Given the description of an element on the screen output the (x, y) to click on. 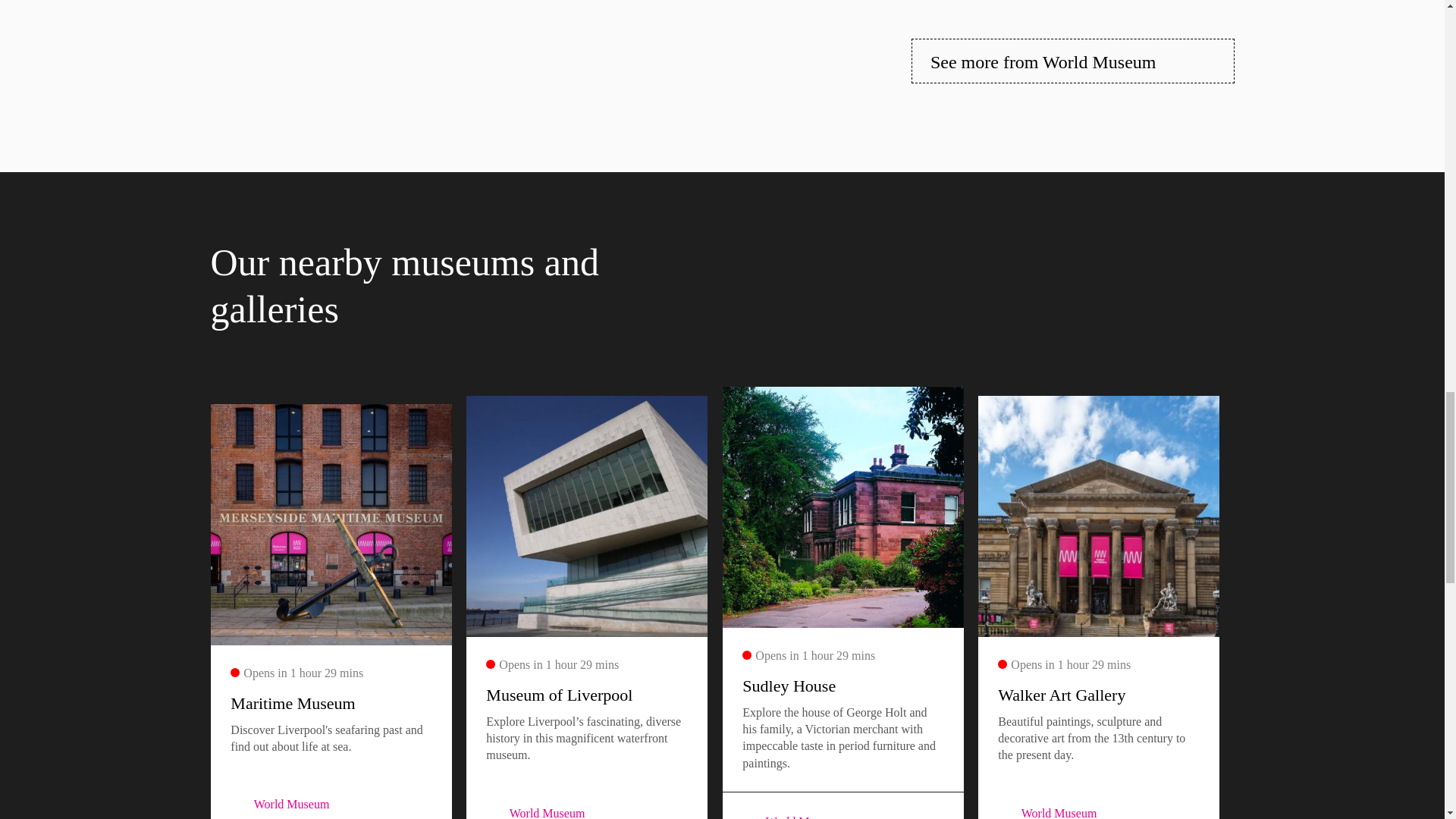
World Museum (494, 811)
World Museum (1005, 811)
World Museum (750, 815)
See more from World Museum (1072, 61)
